Given the description of an element on the screen output the (x, y) to click on. 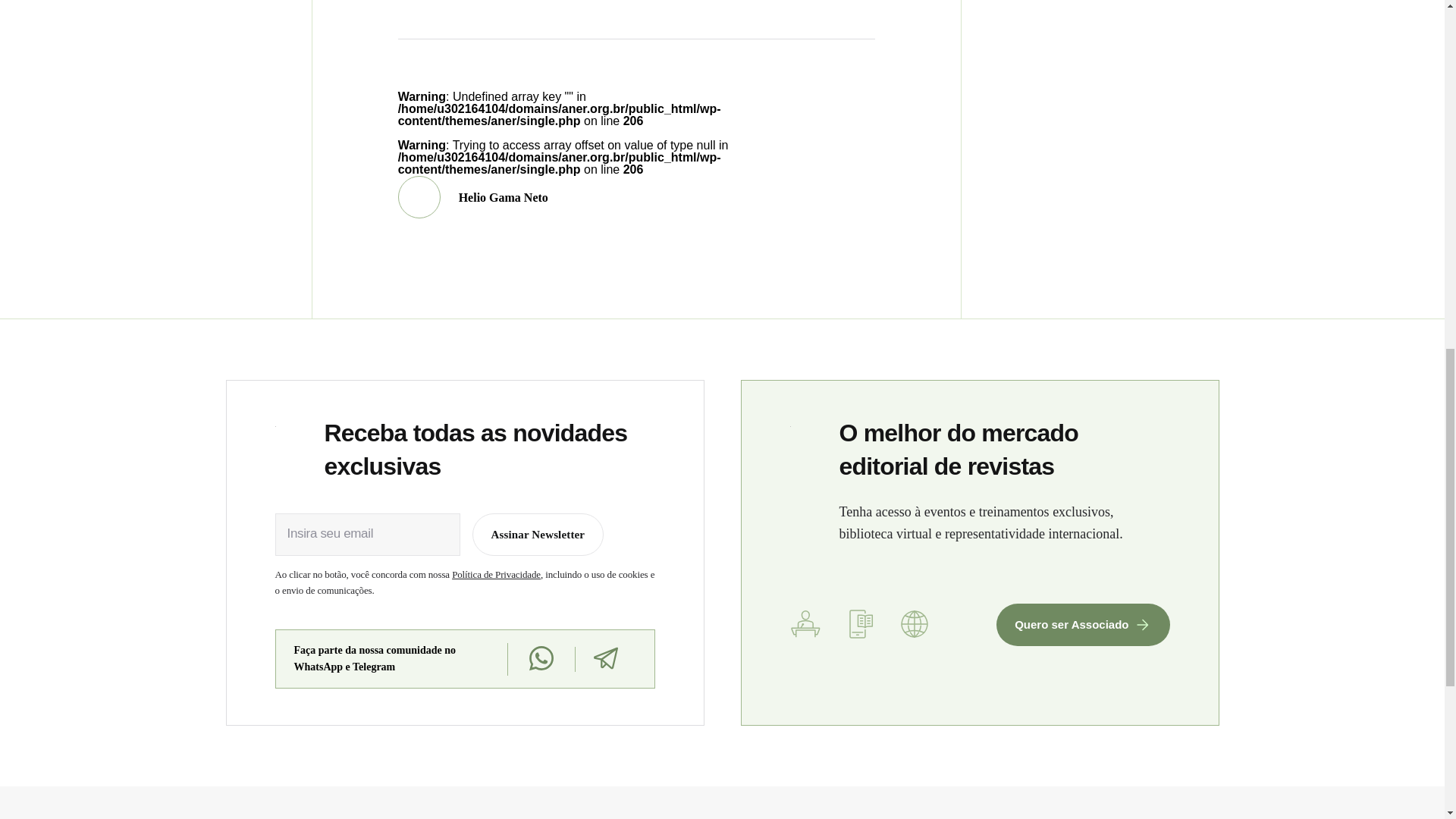
Whatsapp (539, 658)
Telegram (605, 658)
